Given the description of an element on the screen output the (x, y) to click on. 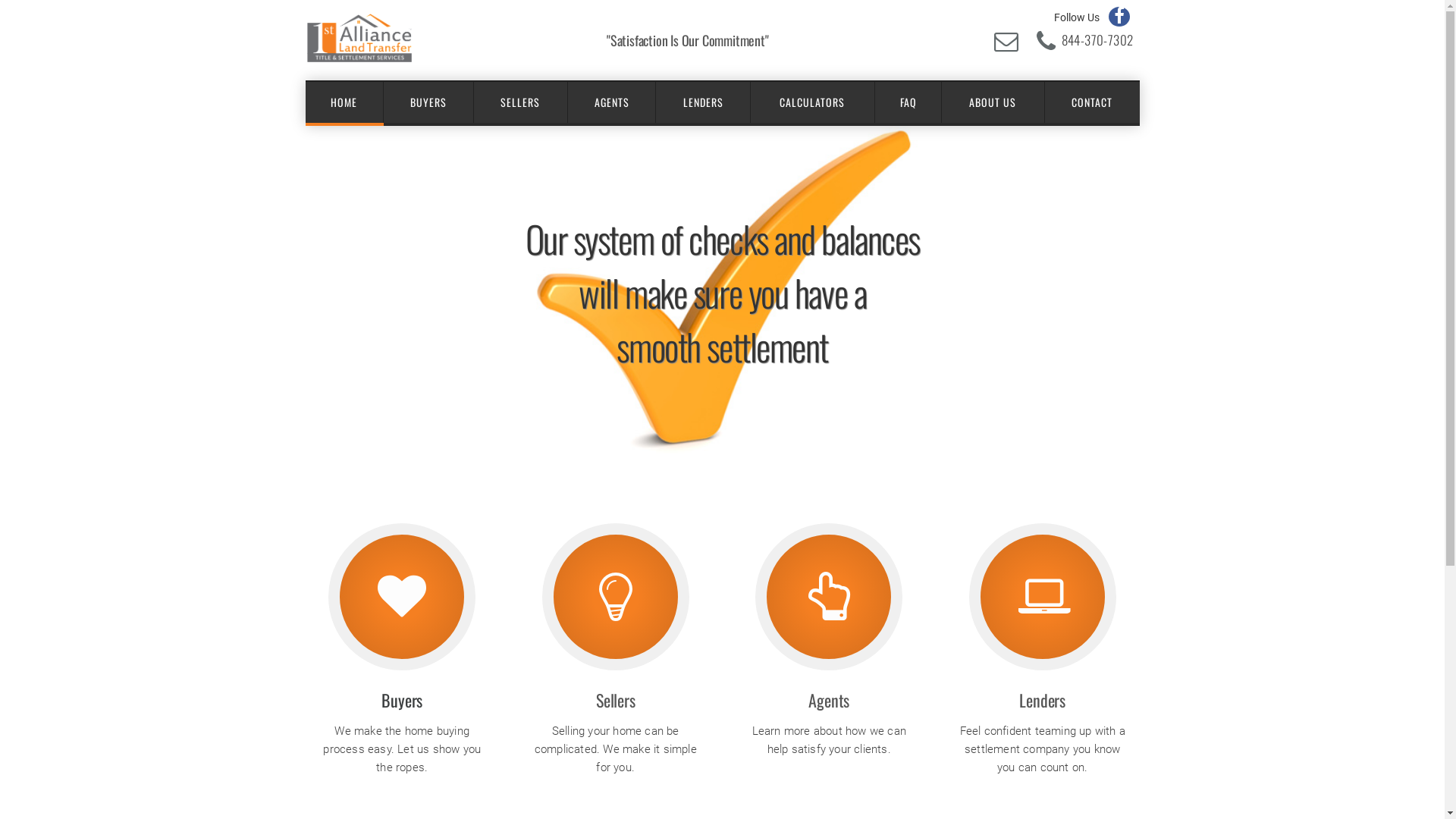
CONTACT Element type: text (1091, 101)
FAQ Element type: text (908, 101)
SELLERS Element type: text (520, 101)
844-370-7302 Element type: text (1097, 39)
CALCULATORS Element type: text (812, 101)
BUYERS Element type: text (428, 101)
HOME Element type: text (343, 101)
LENDERS Element type: text (702, 101)
ABOUT US Element type: text (992, 101)
AGENTS Element type: text (611, 101)
